Given the description of an element on the screen output the (x, y) to click on. 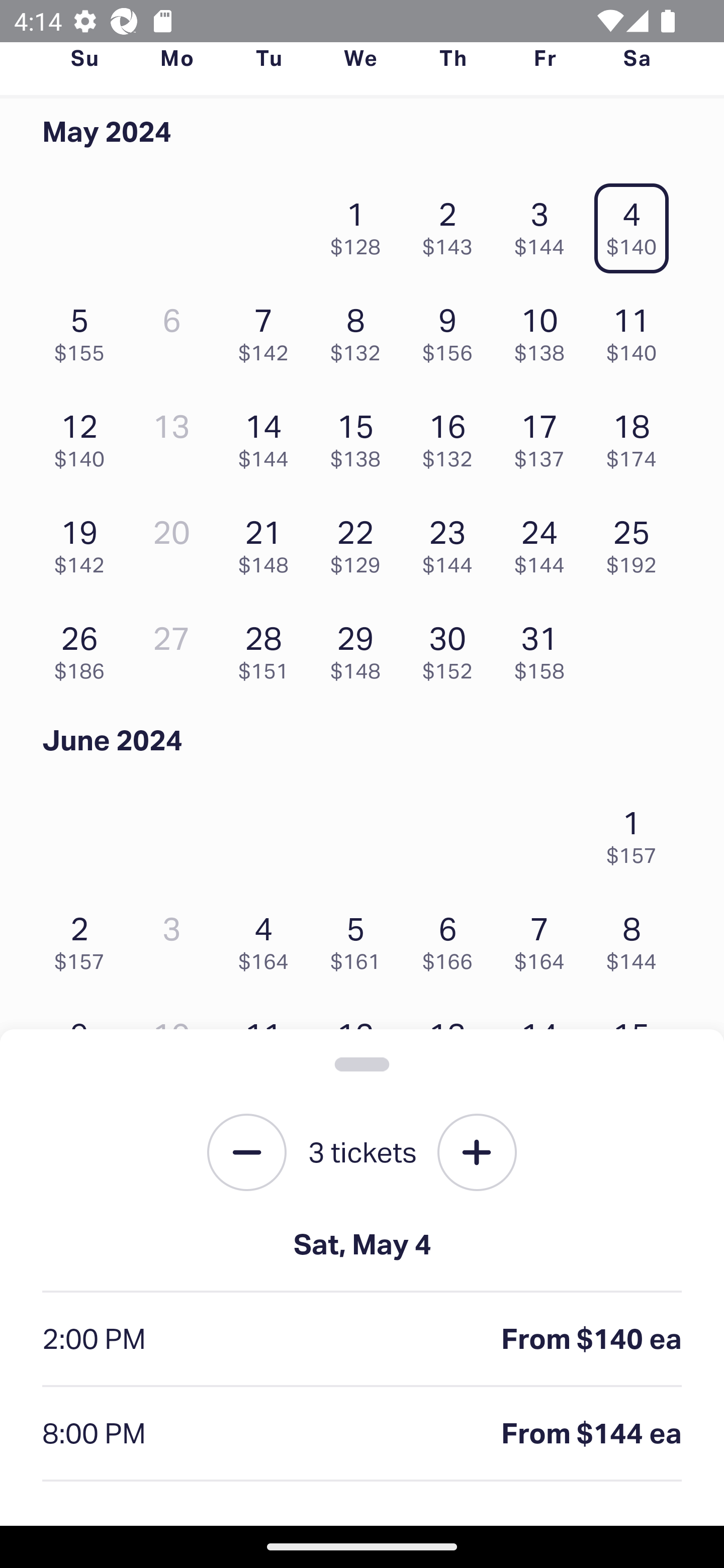
1 $128 (360, 223)
2 $143 (452, 223)
3 $144 (544, 223)
4 $140 (636, 223)
5 $155 (84, 329)
7 $142 (268, 329)
8 $132 (360, 329)
9 $156 (452, 329)
10 $138 (544, 329)
11 $140 (636, 329)
12 $140 (84, 435)
14 $144 (268, 435)
15 $138 (360, 435)
16 $132 (452, 435)
17 $137 (544, 435)
18 $174 (636, 435)
19 $142 (84, 541)
21 $148 (268, 541)
22 $129 (360, 541)
23 $144 (452, 541)
24 $144 (544, 541)
25 $192 (636, 541)
26 $186 (84, 647)
28 $151 (268, 647)
29 $148 (360, 647)
30 $152 (452, 647)
31 $158 (544, 647)
1 $157 (636, 831)
2 $157 (84, 938)
4 $164 (268, 938)
5 $161 (360, 938)
6 $166 (452, 938)
7 $164 (544, 938)
8 $144 (636, 938)
9 $156 (84, 1044)
11 $155 (268, 1044)
12 $161 (360, 1044)
13 $155 (452, 1044)
14 $176 (544, 1044)
15 $160 (636, 1044)
2:00 PM From $140 ea (361, 1339)
8:00 PM From $144 ea (361, 1434)
